Given the description of an element on the screen output the (x, y) to click on. 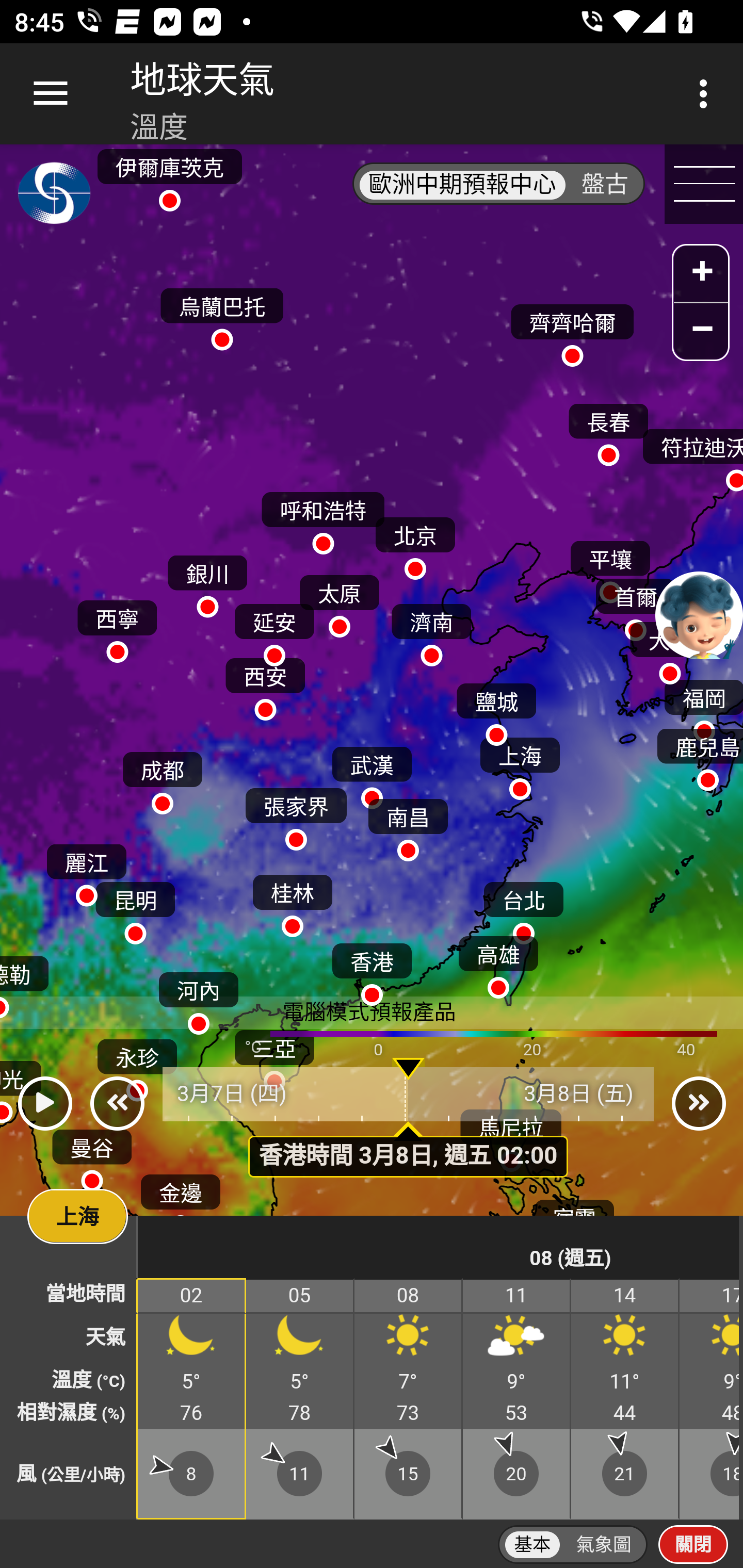
向上瀏覽 (50, 93)
更多選項 (706, 93)
香港天文台 (54, 197)
菜單按鈕 (703, 184)
伊爾庫茨克 (169, 174)
歐洲中期預報中心 (461, 184)
盤古 (604, 184)
Zoom in (700, 275)
烏蘭巴托 (222, 314)
齊齊哈爾 (572, 330)
Zoom out (700, 331)
長春 (608, 429)
符拉迪沃斯托克 (691, 456)
呼和浩特 (323, 518)
北京 (414, 543)
平壤 (609, 567)
銀川 (207, 581)
聊天機械人 (699, 614)
太原 (338, 600)
首爾 (634, 604)
西寧 (117, 625)
延安 (273, 629)
濟南 (431, 629)
西安 (264, 683)
福岡 (702, 705)
鹽城 (495, 709)
鹿兒島 (699, 755)
上海 (519, 763)
武漢 (371, 772)
成都 (161, 778)
張家界 (295, 815)
南昌 (407, 825)
麗江 (85, 870)
桂林 (292, 901)
昆明 (134, 908)
台北 (523, 908)
高雄 (497, 962)
香港 (371, 970)
河內 (197, 998)
三亞 (273, 1055)
永珍 (136, 1066)
3月7日 (四) 3月8日 (五) (408, 1094)
 (44, 1103)
上一時段 (117, 1103)
下一時段 (699, 1103)
曼谷 (91, 1155)
金邊 (180, 1199)
當地時間 02 時 (192, 1295)
當地時間 05 時 (300, 1295)
當地時間 08 時 (408, 1295)
當地時間 11 時 (517, 1295)
當地時間 14 時 (625, 1295)
天氣 天色良好 (192, 1338)
天氣 天色良好 (300, 1338)
天氣 天晴 (408, 1338)
天氣 部分時間有陽光 (517, 1338)
天氣 天晴 (625, 1338)
天氣 天晴 (709, 1338)
溫度 5 度 (192, 1381)
溫度 5 度 (300, 1381)
溫度 7 度 (408, 1381)
溫度 9 度 (517, 1381)
溫度 11 度 (625, 1381)
相對濕度 76% (192, 1413)
相對濕度 78% (300, 1413)
相對濕度 73% (408, 1413)
相對濕度 53% (517, 1413)
相對濕度 44% (625, 1413)
風 每小時 8公里 (西) (192, 1473)
風 每小時 11公里 (西北) (300, 1473)
風 每小時 15公里 (西北) (408, 1473)
風 每小時 20公里 (北) (517, 1473)
風 每小時 21公里 (北) (625, 1473)
關閉 (693, 1544)
基本 (532, 1545)
氣象圖 (603, 1545)
